Given the description of an element on the screen output the (x, y) to click on. 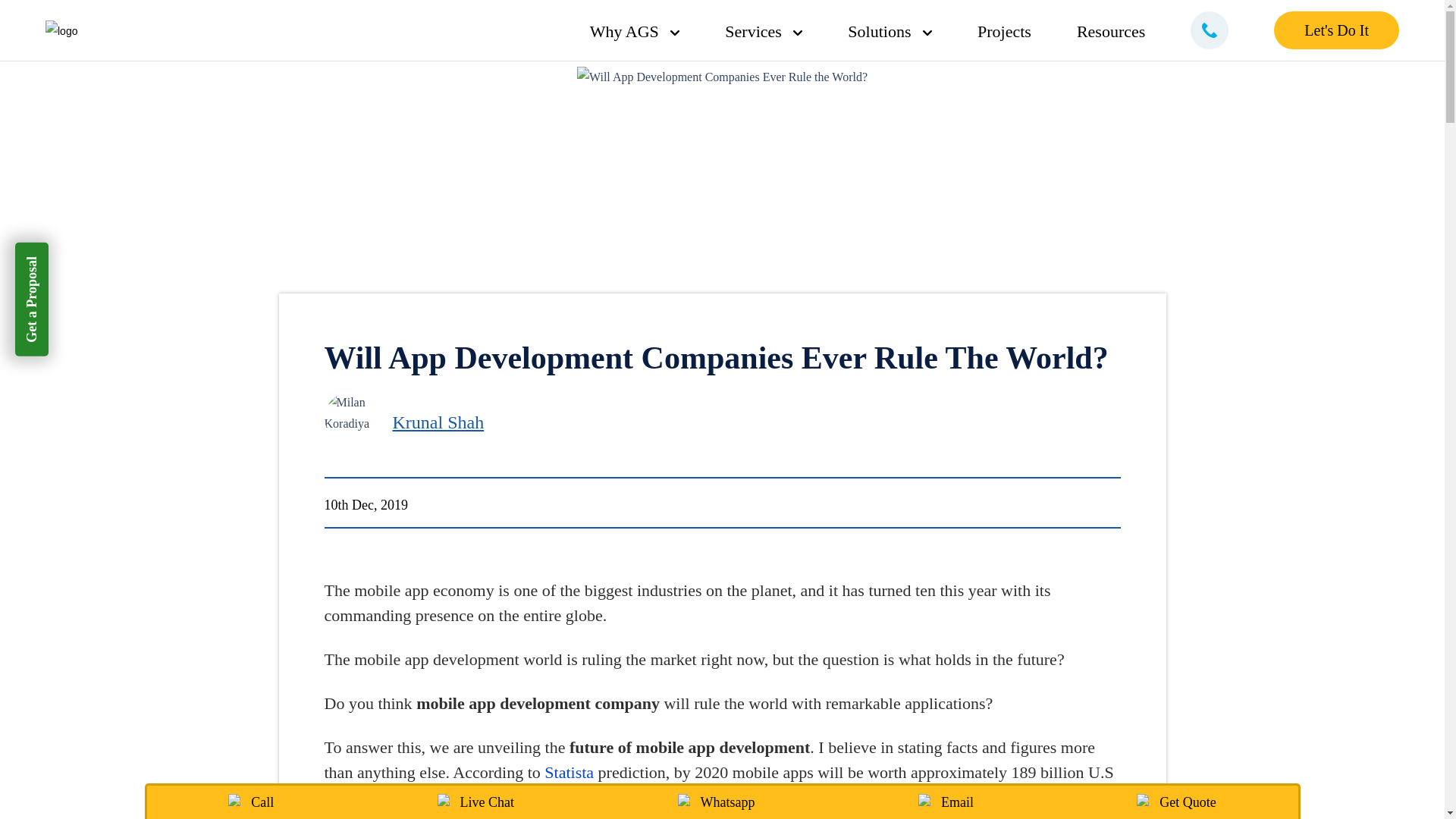
Vector Smart Object1 (927, 33)
Vector Smart Object1 (674, 33)
Services Vector Smart Object1 (763, 31)
Why AGS Vector Smart Object1 (646, 31)
Vector Smart Object1 (797, 33)
icon-header-call- (1209, 29)
